Given the description of an element on the screen output the (x, y) to click on. 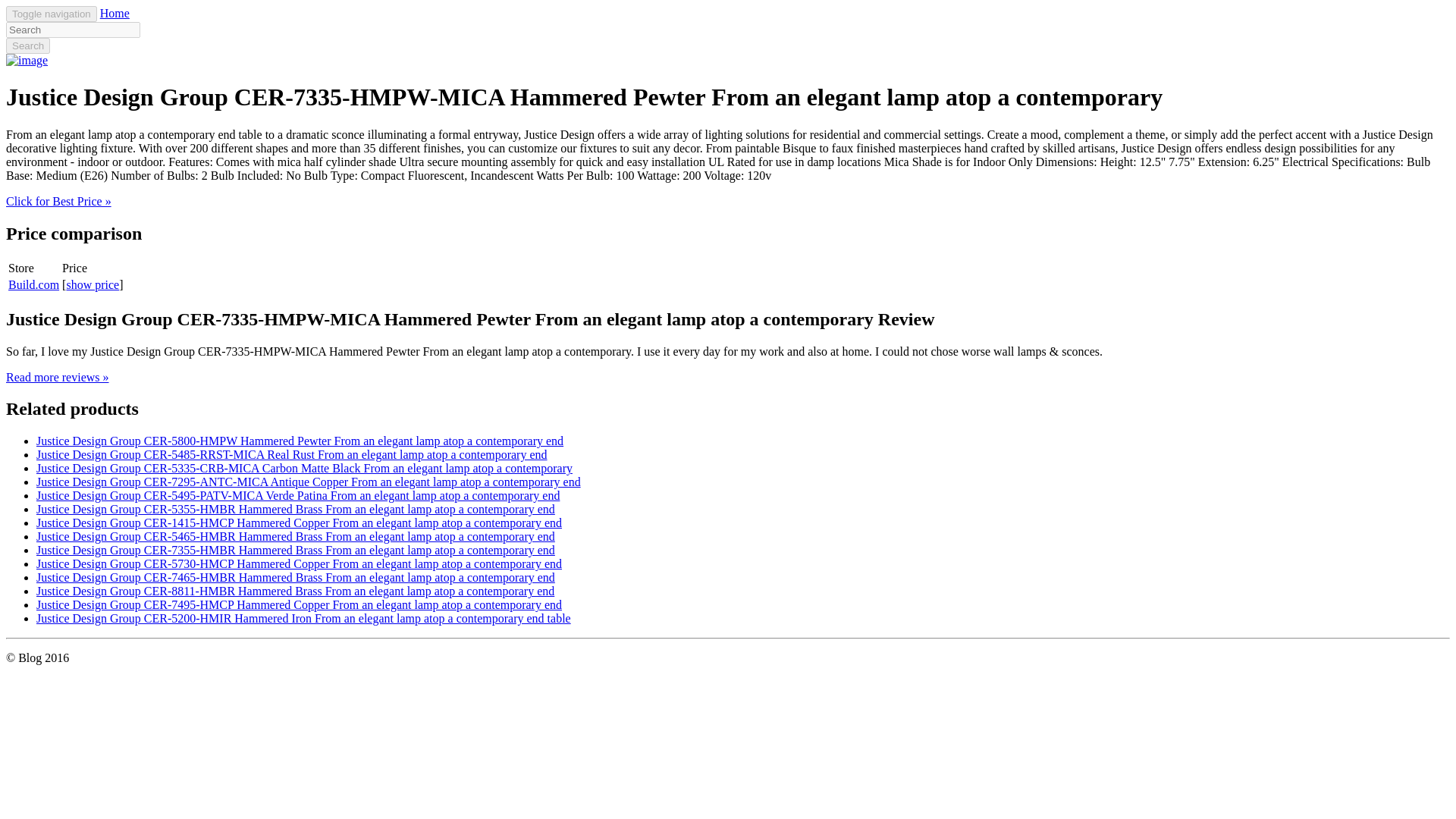
show price (92, 284)
Search (27, 45)
